Given the description of an element on the screen output the (x, y) to click on. 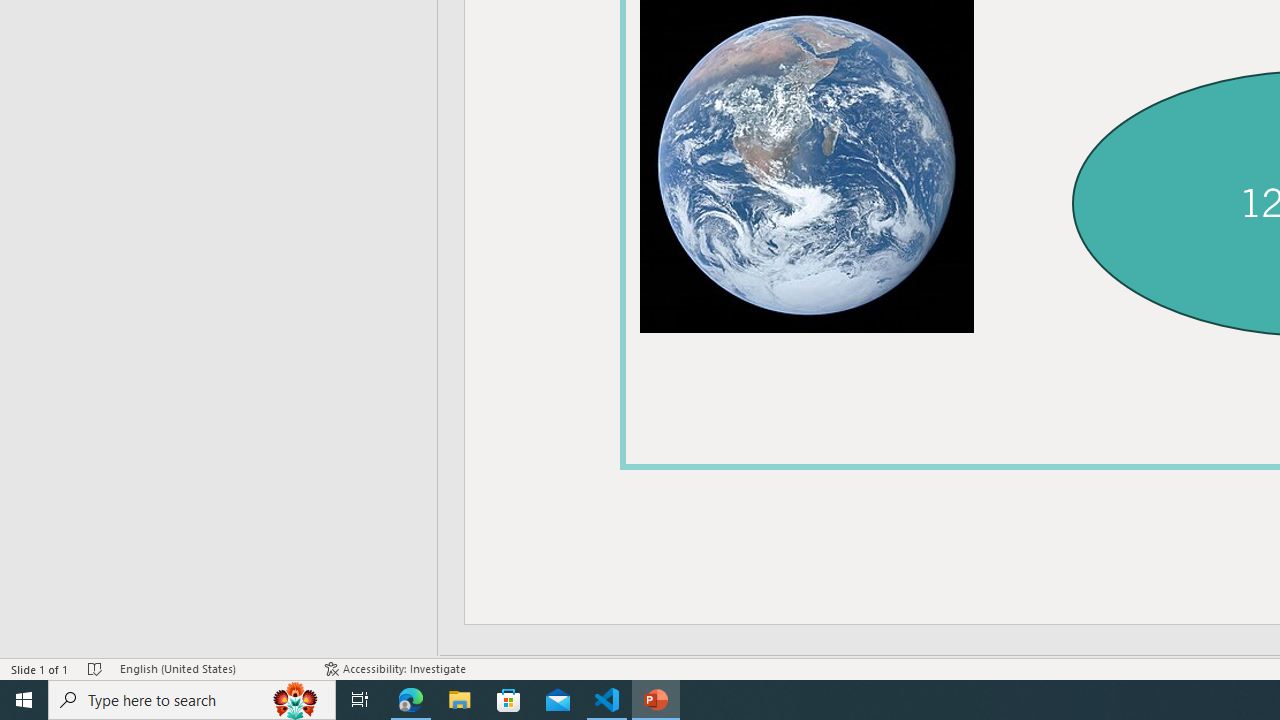
Microsoft Edge - 1 running window (411, 699)
